Given the description of an element on the screen output the (x, y) to click on. 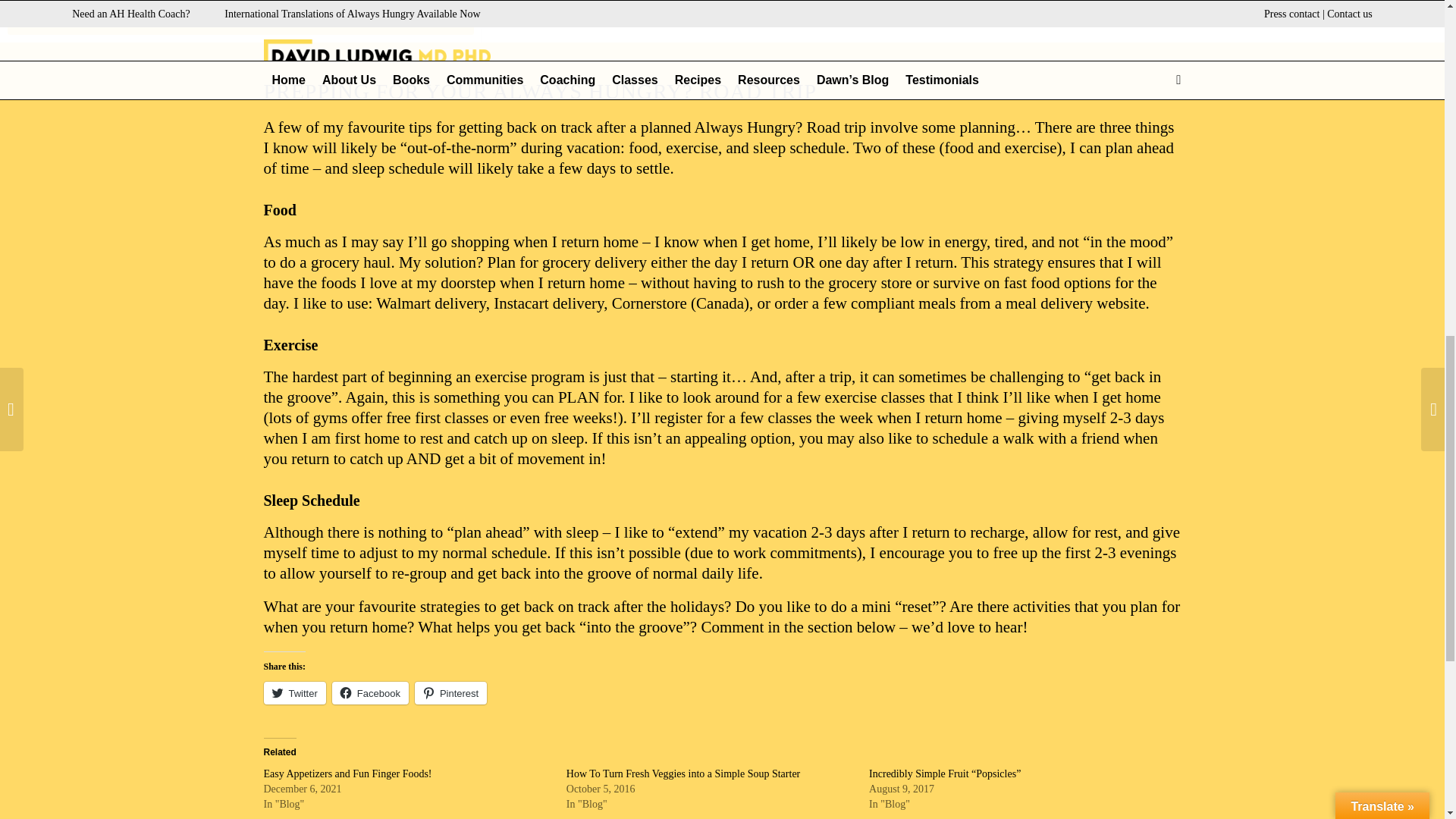
Click to share on Twitter (294, 692)
Click to share on Facebook (370, 692)
Easy Appetizers and Fun Finger Foods! (347, 773)
How to get back on track after road trip (240, 17)
Click to share on Pinterest (450, 692)
How To Turn Fresh Veggies into a Simple Soup Starter (682, 773)
